Given the description of an element on the screen output the (x, y) to click on. 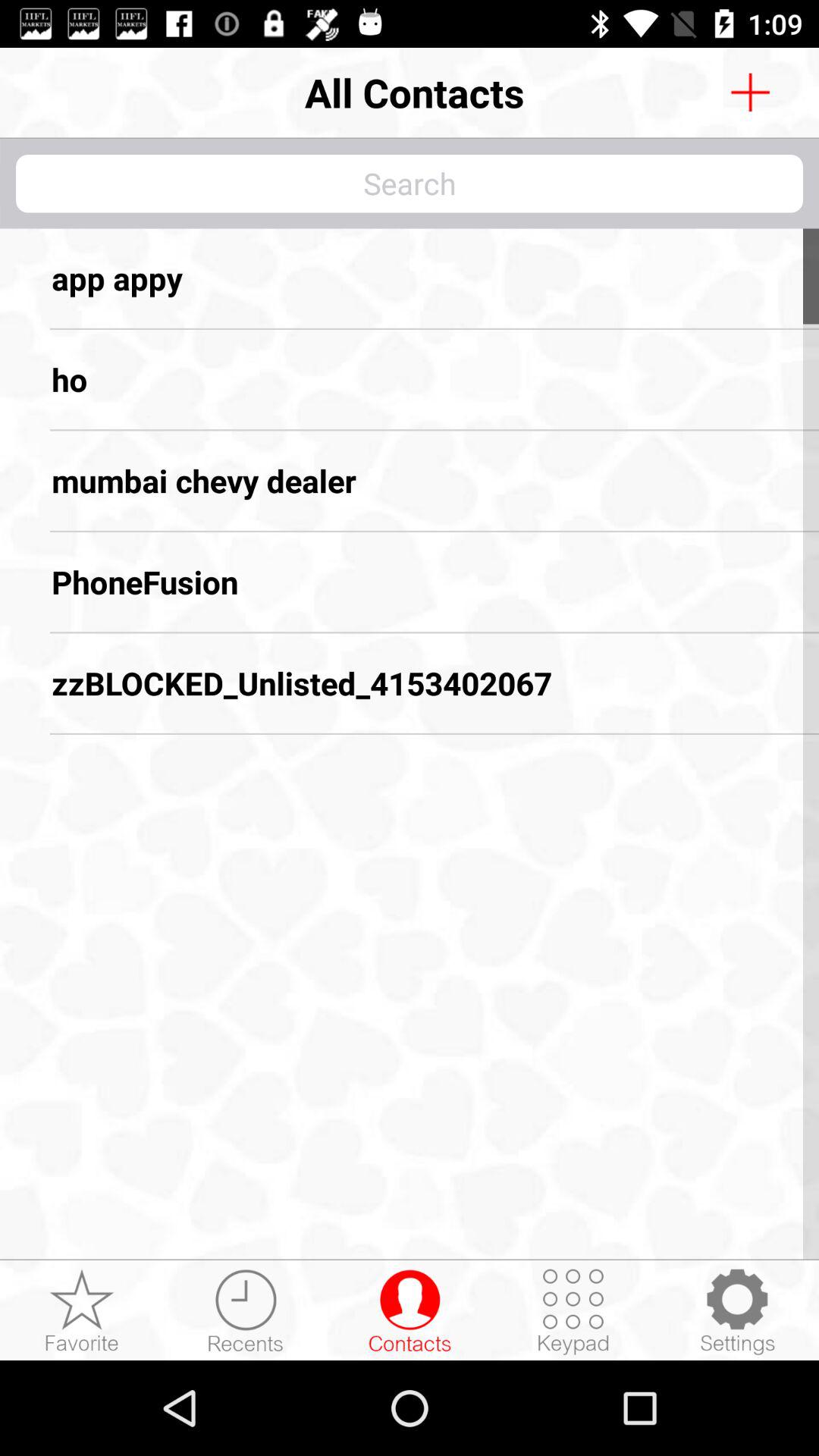
go to contacts (750, 92)
